Given the description of an element on the screen output the (x, y) to click on. 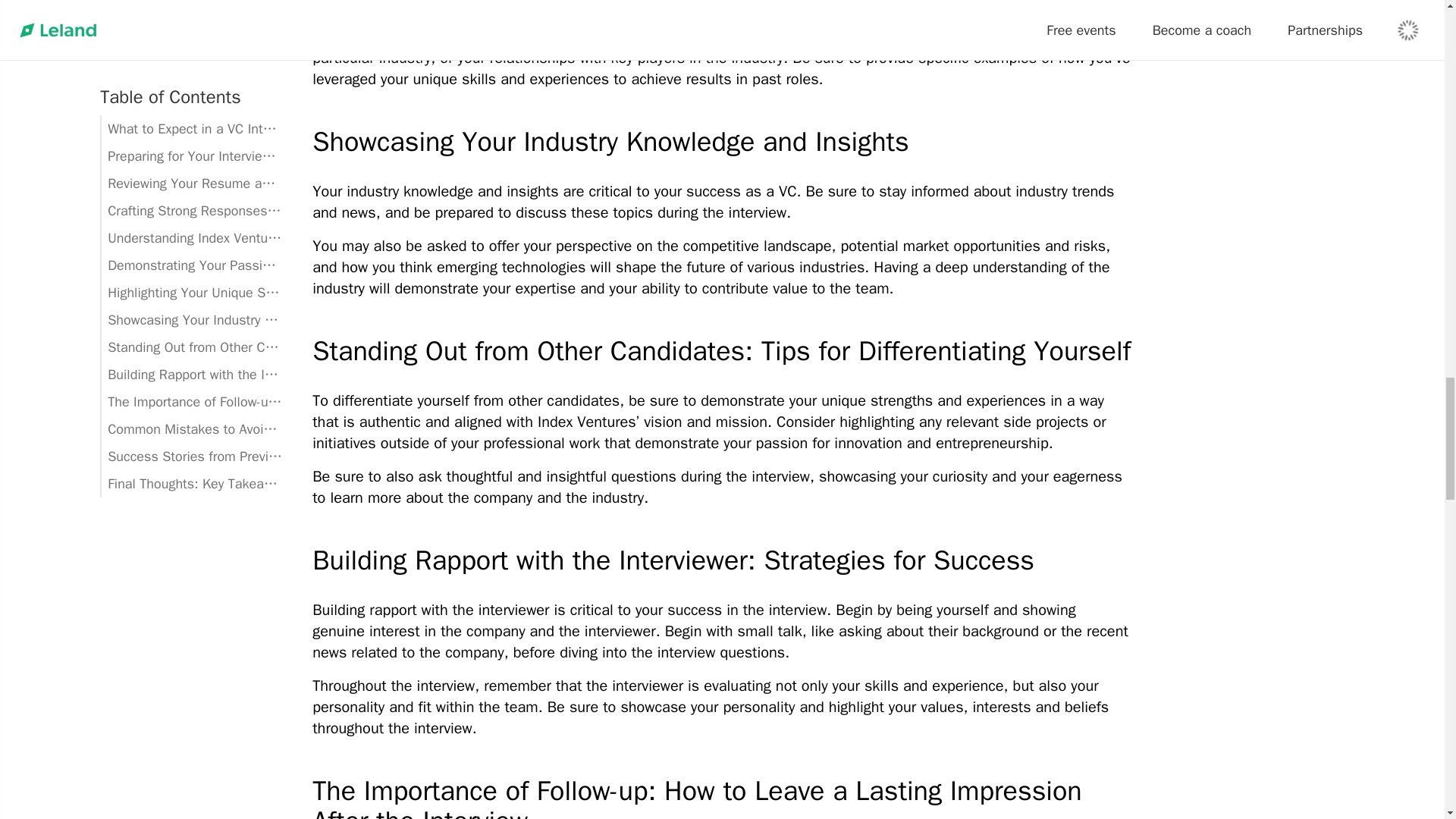
Showcasing Your Industry Knowledge and Insights (722, 141)
